Given the description of an element on the screen output the (x, y) to click on. 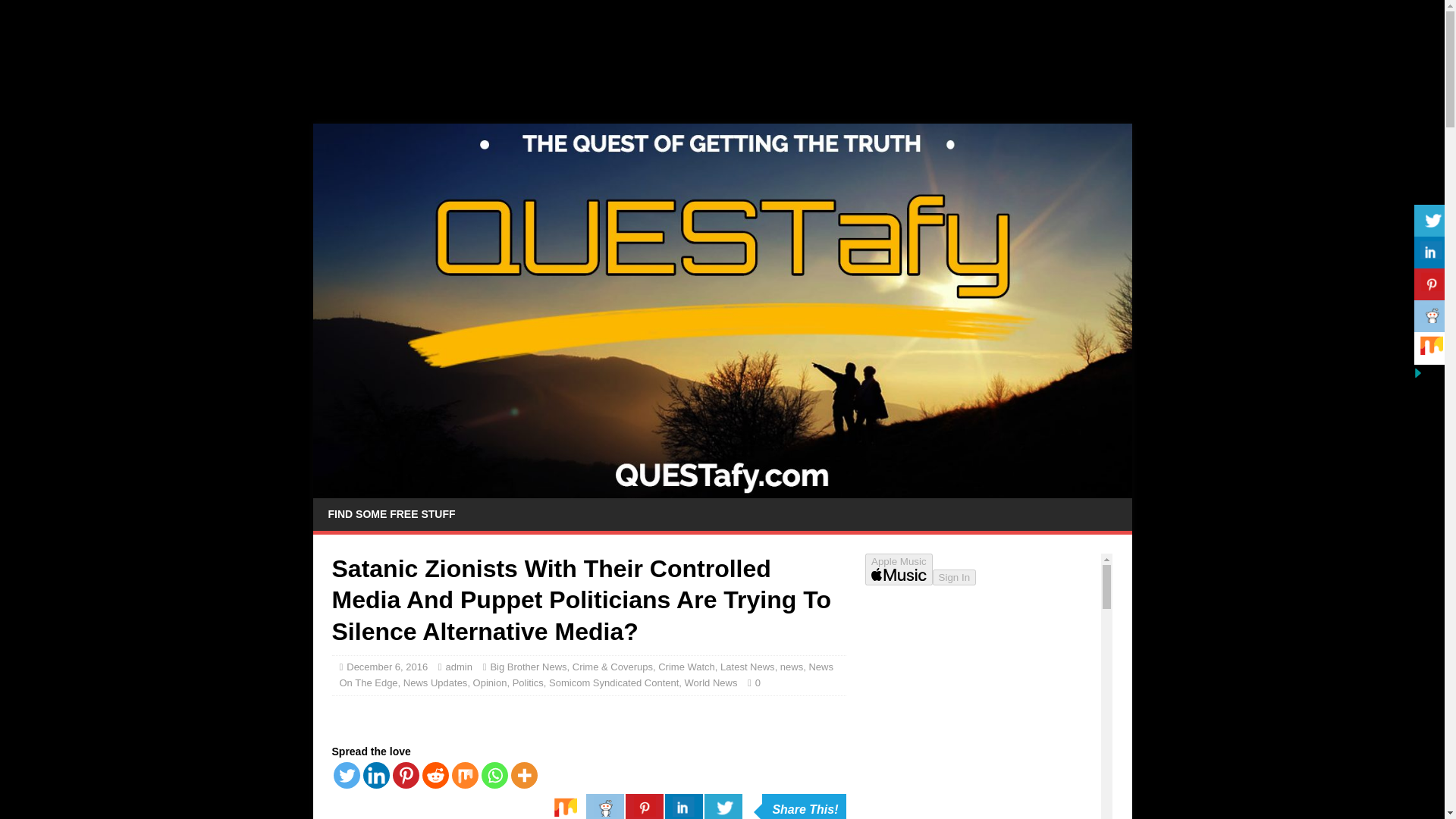
Politics (527, 682)
More (524, 775)
Linkedin (375, 775)
World News (711, 682)
Whatsapp (493, 775)
news (791, 666)
Twitter (346, 775)
December 6, 2016 (387, 666)
Share On Linkedin (684, 806)
Share On Stumbleupon (566, 806)
Share This! (803, 806)
Share On Reddit (605, 806)
Big Brother News (527, 666)
News On The Edge (585, 674)
Somicom Syndicated Content (613, 682)
